Given the description of an element on the screen output the (x, y) to click on. 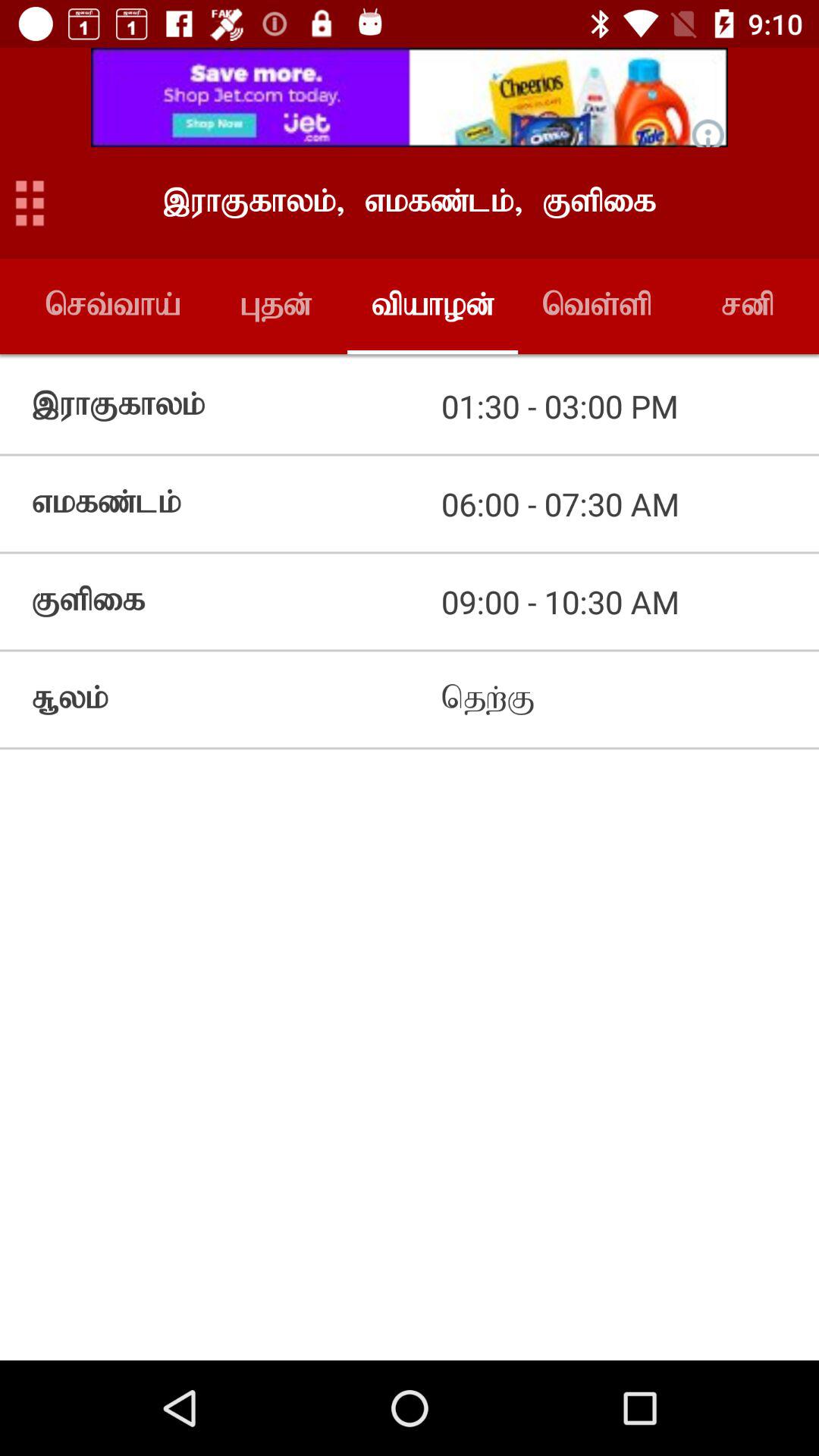
select advertisement (409, 97)
